Given the description of an element on the screen output the (x, y) to click on. 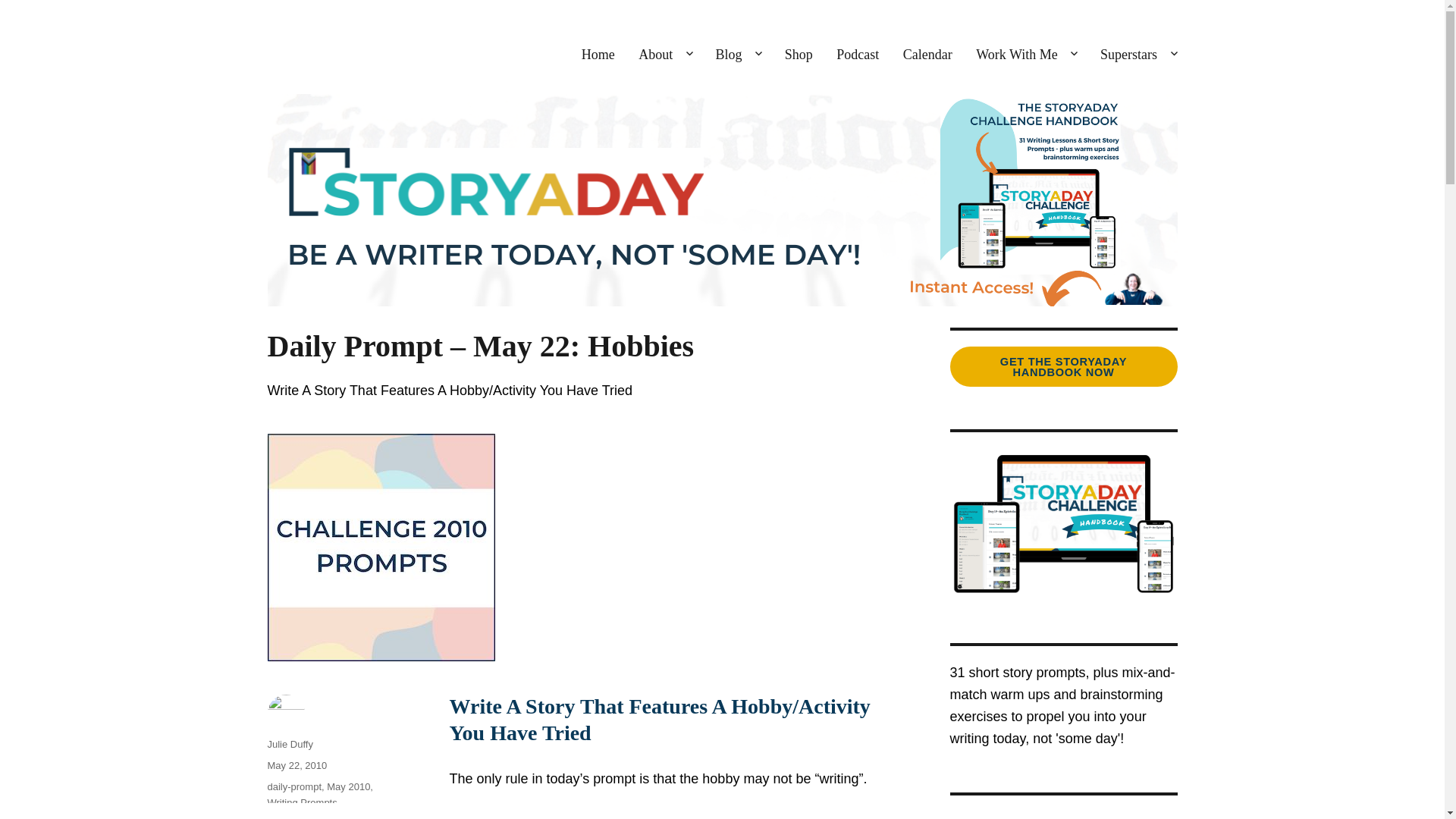
Podcast (858, 54)
About (665, 54)
StoryADay (317, 50)
Blog (738, 54)
Shop (799, 54)
Home (598, 54)
